Given the description of an element on the screen output the (x, y) to click on. 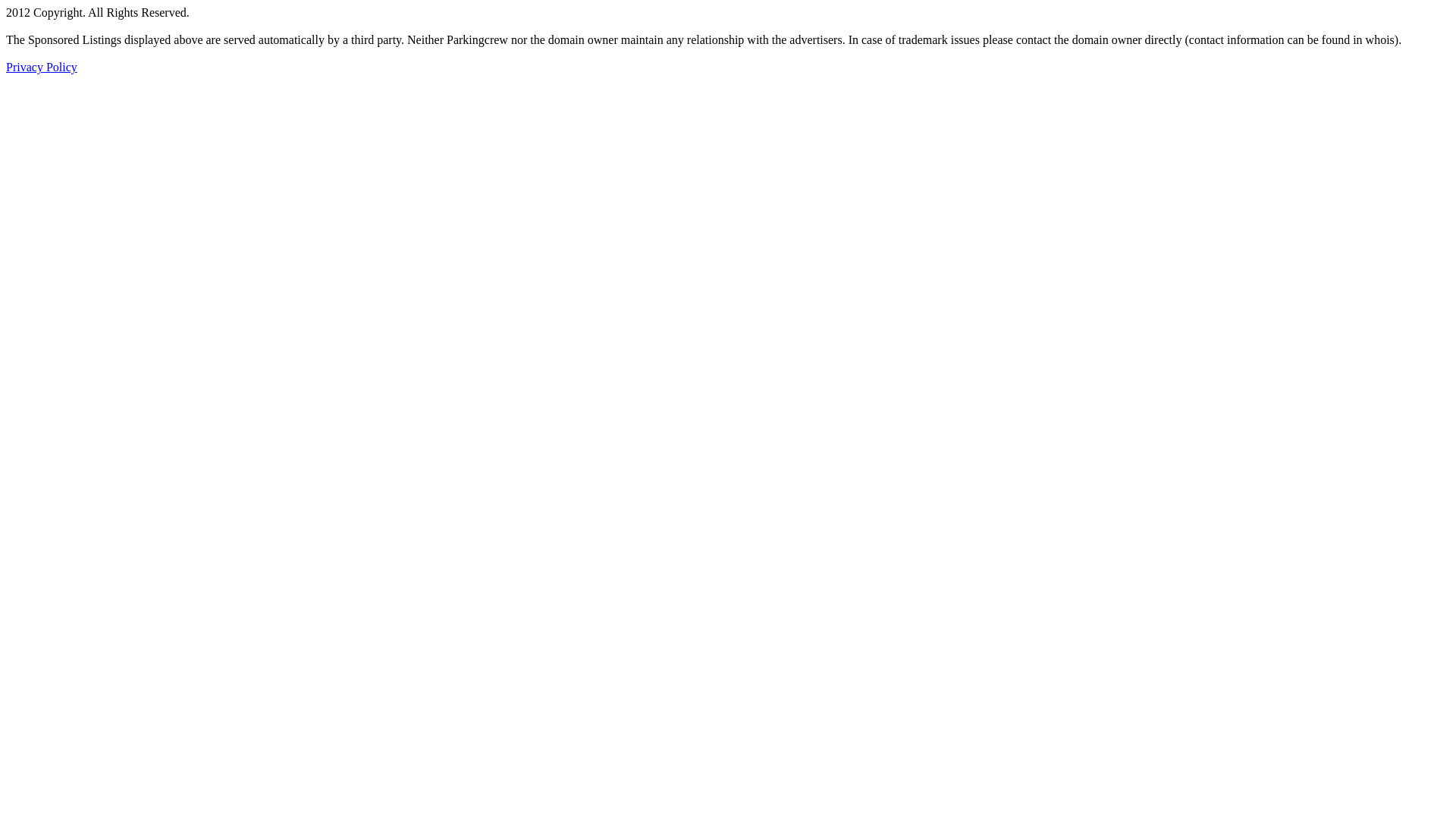
Privacy Policy Element type: text (41, 66)
